Given the description of an element on the screen output the (x, y) to click on. 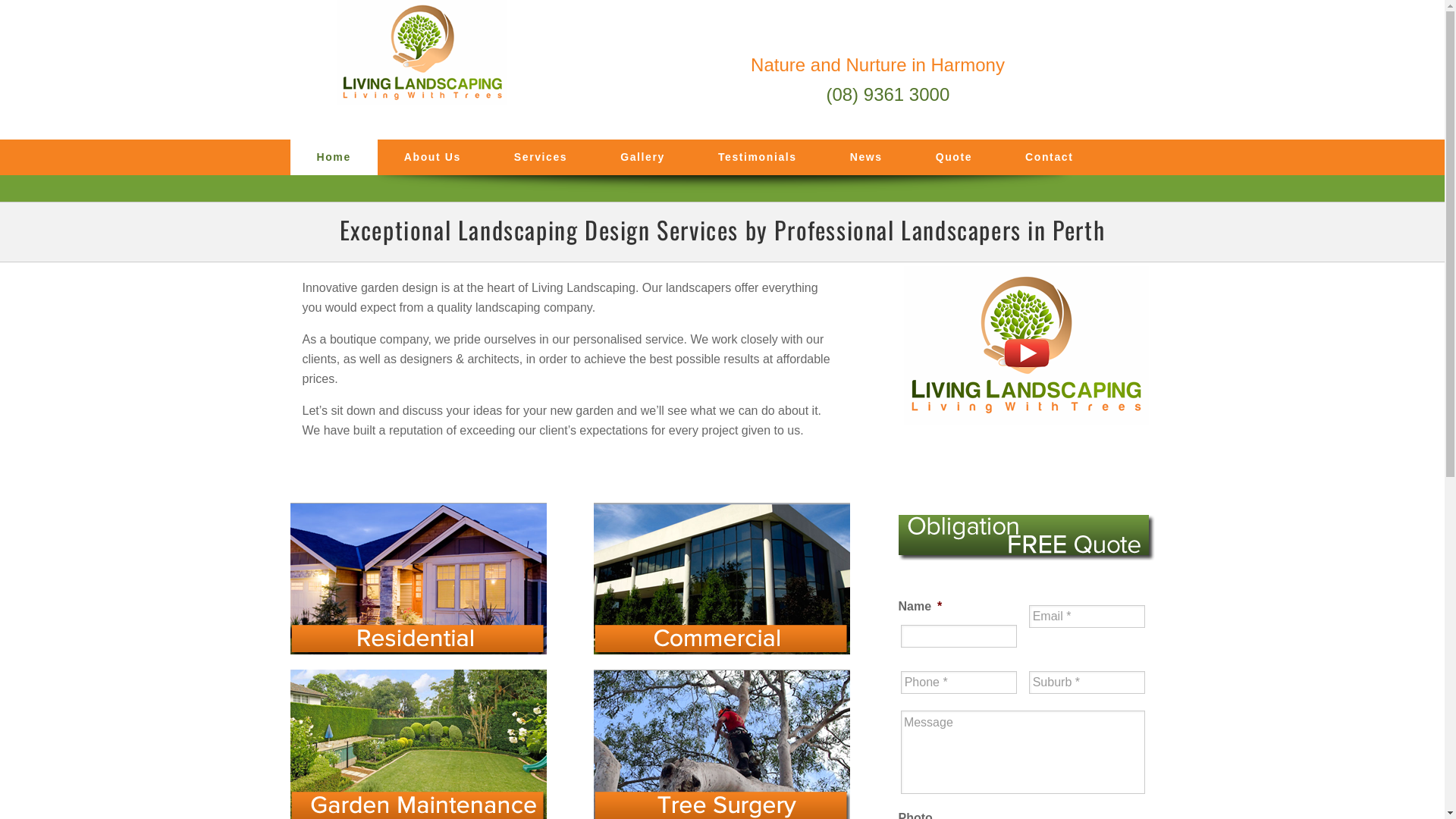
Home Element type: text (332, 157)
News Element type: text (866, 157)
Quote Element type: text (953, 157)
Living Landscaping Element type: text (425, 62)
Contact Element type: text (1048, 157)
Testimonials Element type: text (757, 157)
About Us Element type: text (432, 157)
Residential Element type: hover (417, 578)
Gallery Element type: text (642, 157)
Commercial Element type: hover (721, 578)
Services Element type: text (540, 157)
